Given the description of an element on the screen output the (x, y) to click on. 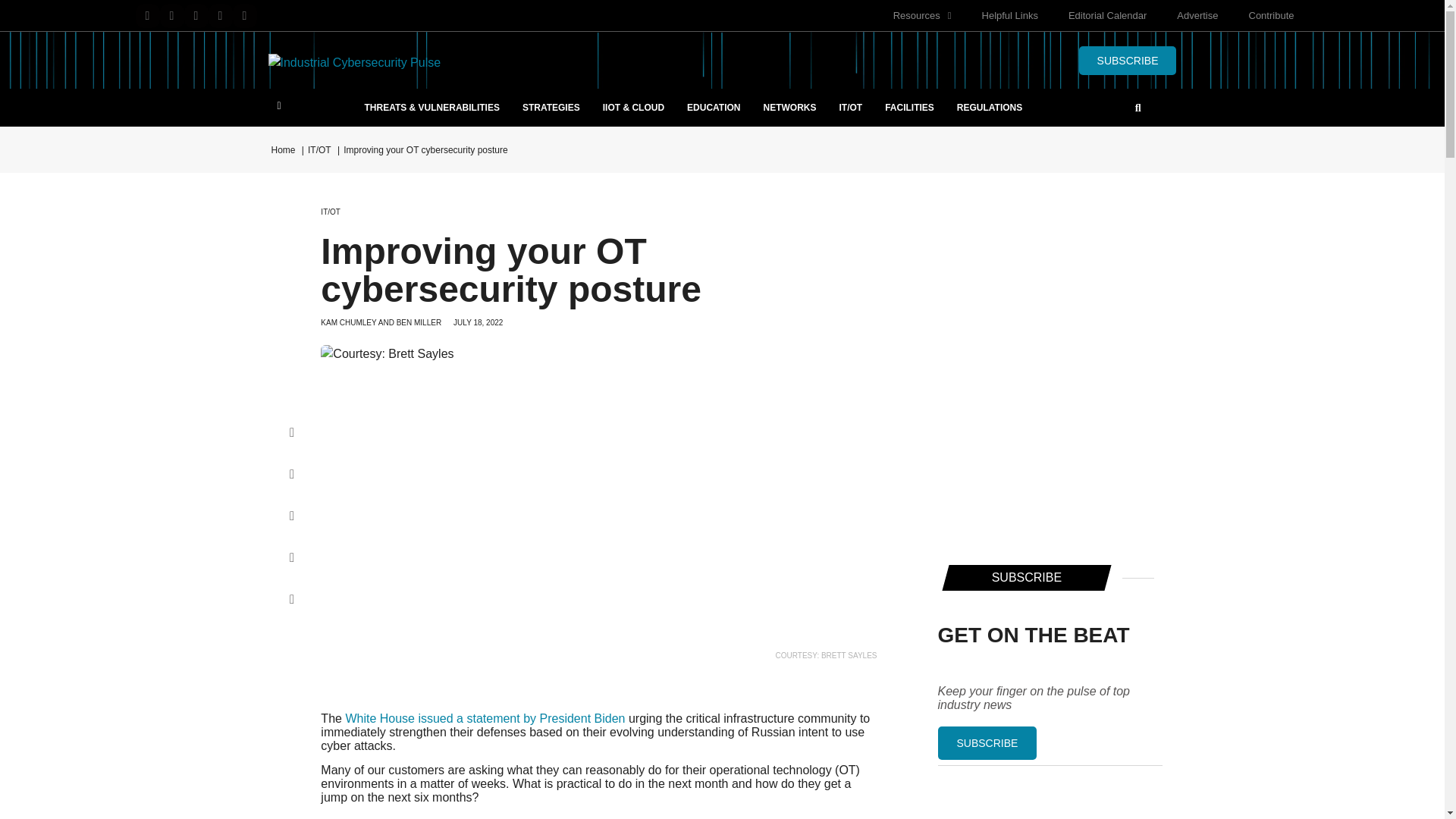
Helpful Links (1009, 15)
Advertise (1197, 15)
NETWORKS (790, 107)
Contribute (1270, 15)
Editorial Calendar (1106, 15)
STRATEGIES (551, 107)
EDUCATION (713, 107)
Resources (921, 15)
REGULATIONS (988, 107)
FACILITIES (908, 107)
